Given the description of an element on the screen output the (x, y) to click on. 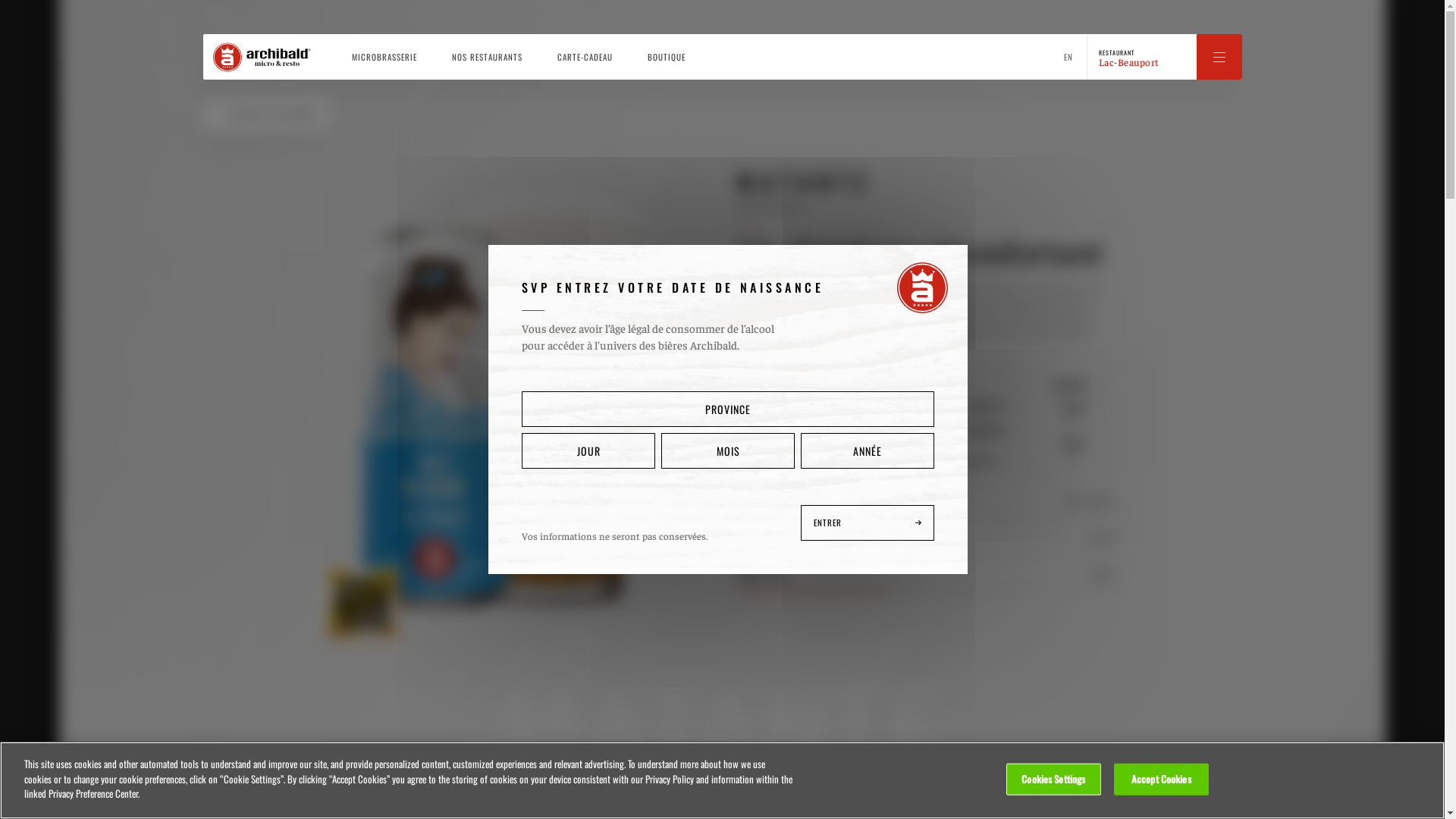
Accept Cookies Element type: text (1160, 779)
CARTE-CADEAU Element type: text (584, 56)
NOS RESTAURANTS Element type: text (486, 56)
ENTRER Element type: text (867, 522)
EN Element type: text (1067, 56)
BOUTIQUE Element type: text (666, 56)
Cookies Settings Element type: text (1053, 779)
MICROBRASSERIE Element type: text (384, 56)
RESTAURANT
Lac-Beauport Element type: text (1163, 56)
RETOUR AUX CLASSIQUES Element type: text (266, 114)
